Given the description of an element on the screen output the (x, y) to click on. 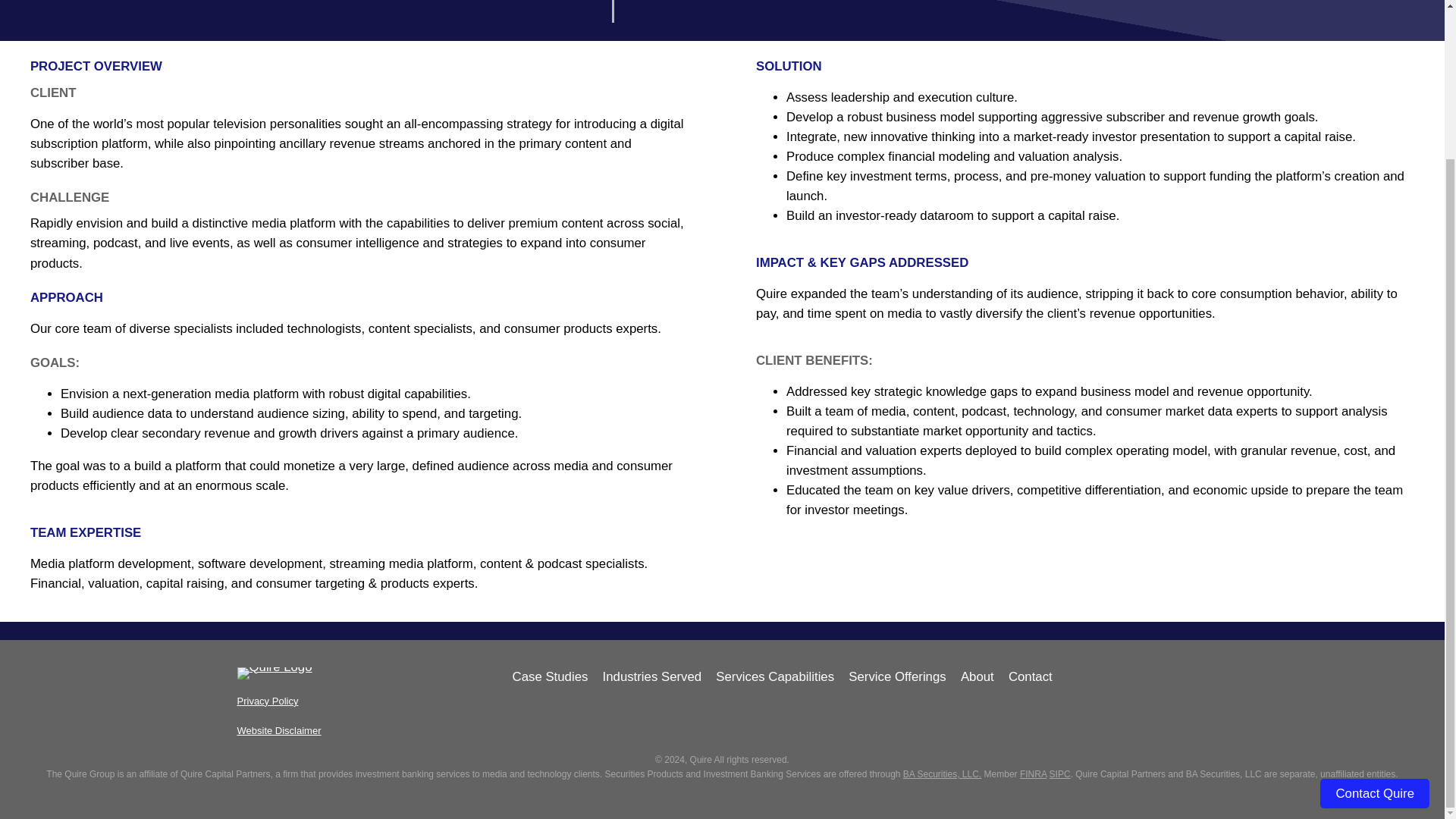
Industries Served (651, 677)
Website Disclaimer (277, 730)
Service Offerings (896, 677)
Services Capabilities (775, 677)
Privacy Policy (266, 700)
Contact (1030, 677)
BA Securities, LLC. (941, 774)
FINRA (1033, 774)
About (977, 677)
Case Studies (550, 677)
SIPC (1059, 774)
Contact Quire (1374, 605)
